Given the description of an element on the screen output the (x, y) to click on. 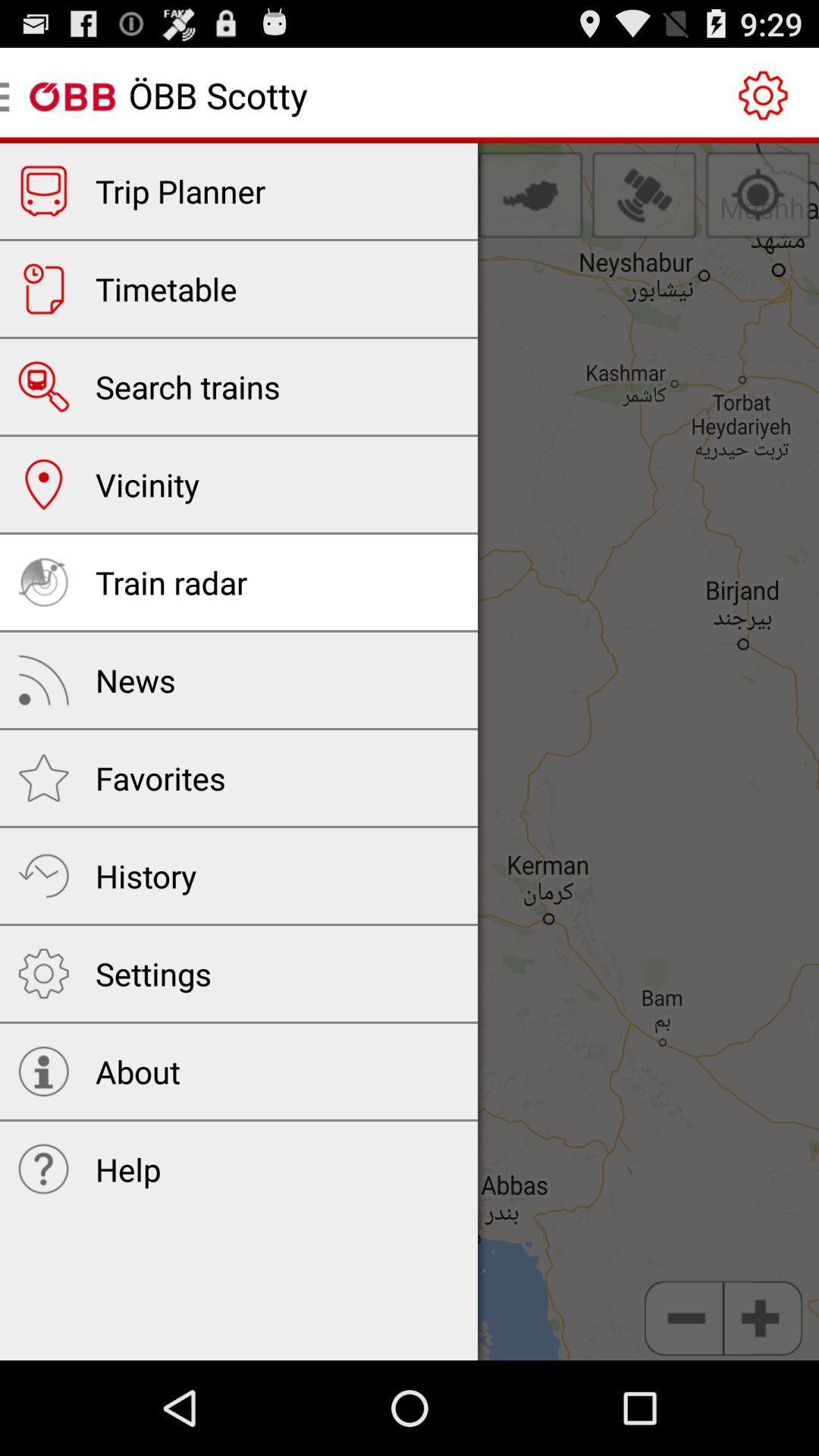
turn on the help (127, 1169)
